Given the description of an element on the screen output the (x, y) to click on. 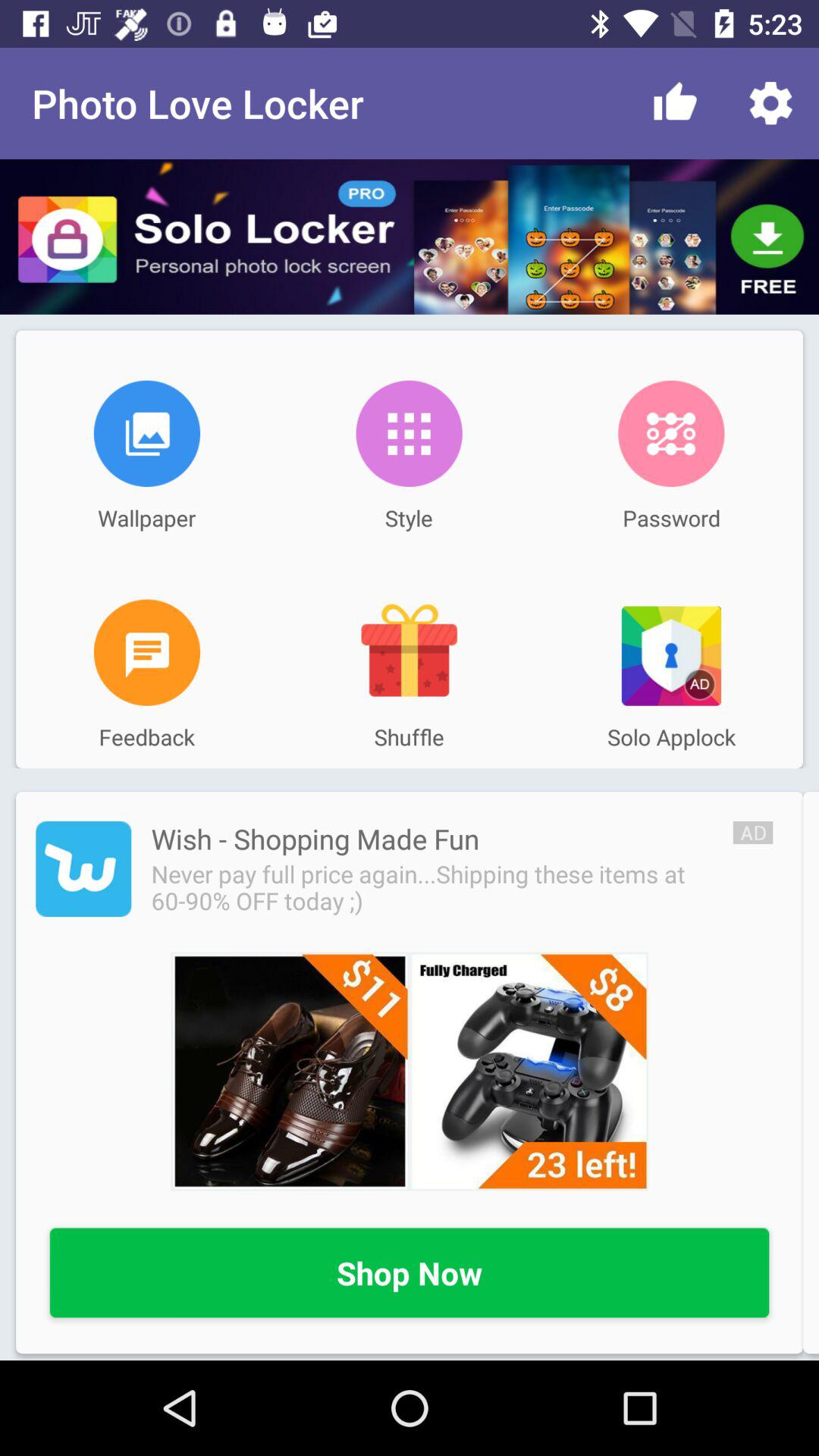
tap icon next to feedback (409, 652)
